Given the description of an element on the screen output the (x, y) to click on. 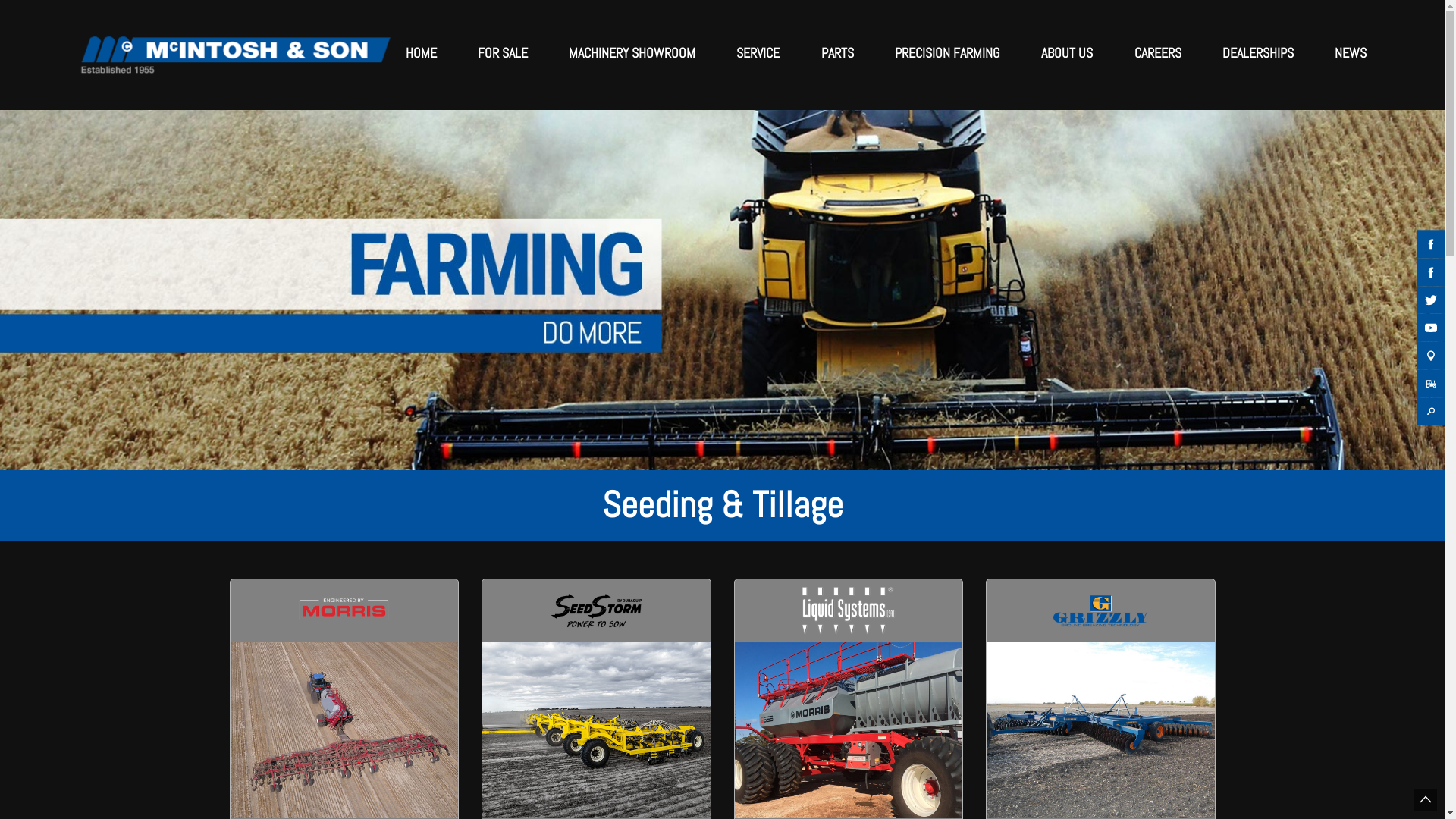
PARTS Element type: text (837, 53)
CAREERS Element type: text (1157, 53)
SERVICE Element type: text (757, 53)
FOR SALE Element type: text (502, 53)
DEALERSHIPS Element type: text (1257, 53)
HOME Element type: text (420, 53)
MACHINERY SHOWROOM Element type: text (631, 53)
PRECISION FARMING Element type: text (947, 53)
NEWS Element type: text (1347, 53)
ABOUT US Element type: text (1066, 53)
